Given the description of an element on the screen output the (x, y) to click on. 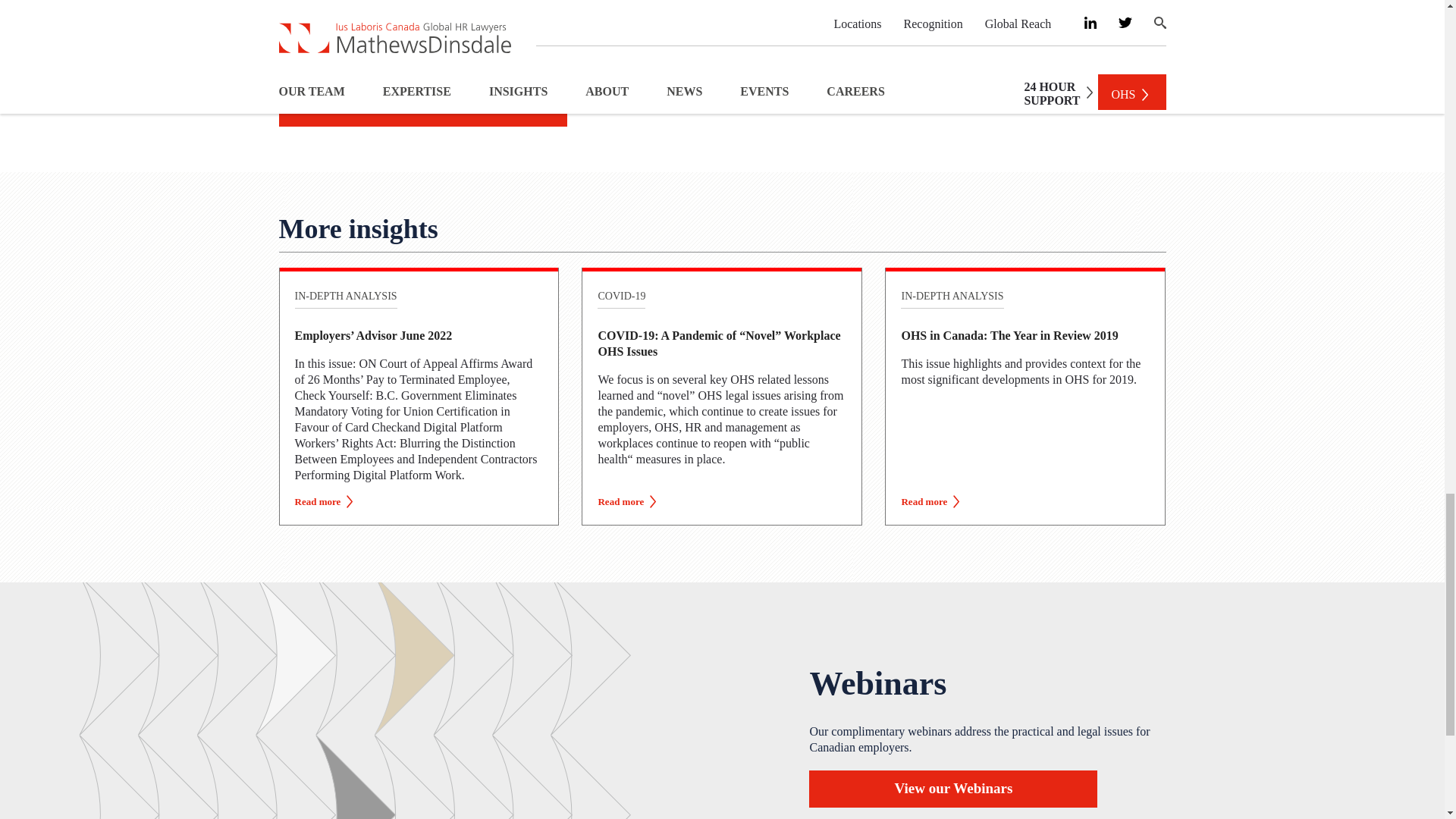
Print article (423, 107)
Construction labour relations (400, 51)
Mathews Dinsdale lawyer (604, 14)
